Given the description of an element on the screen output the (x, y) to click on. 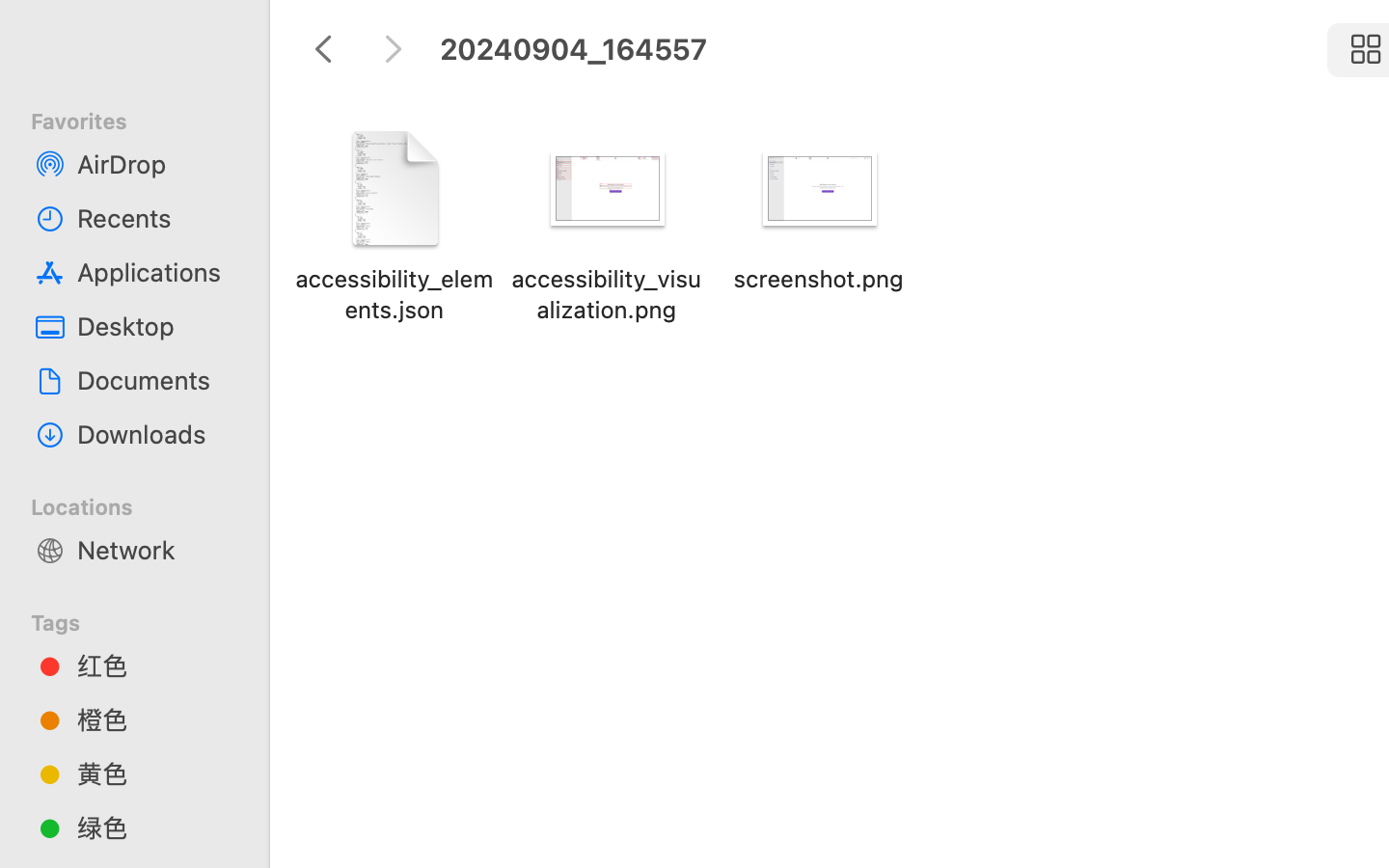
Network Element type: AXStaticText (155, 549)
Documents Element type: AXStaticText (155, 379)
红色 Element type: AXStaticText (155, 665)
Favorites Element type: AXStaticText (145, 118)
